Given the description of an element on the screen output the (x, y) to click on. 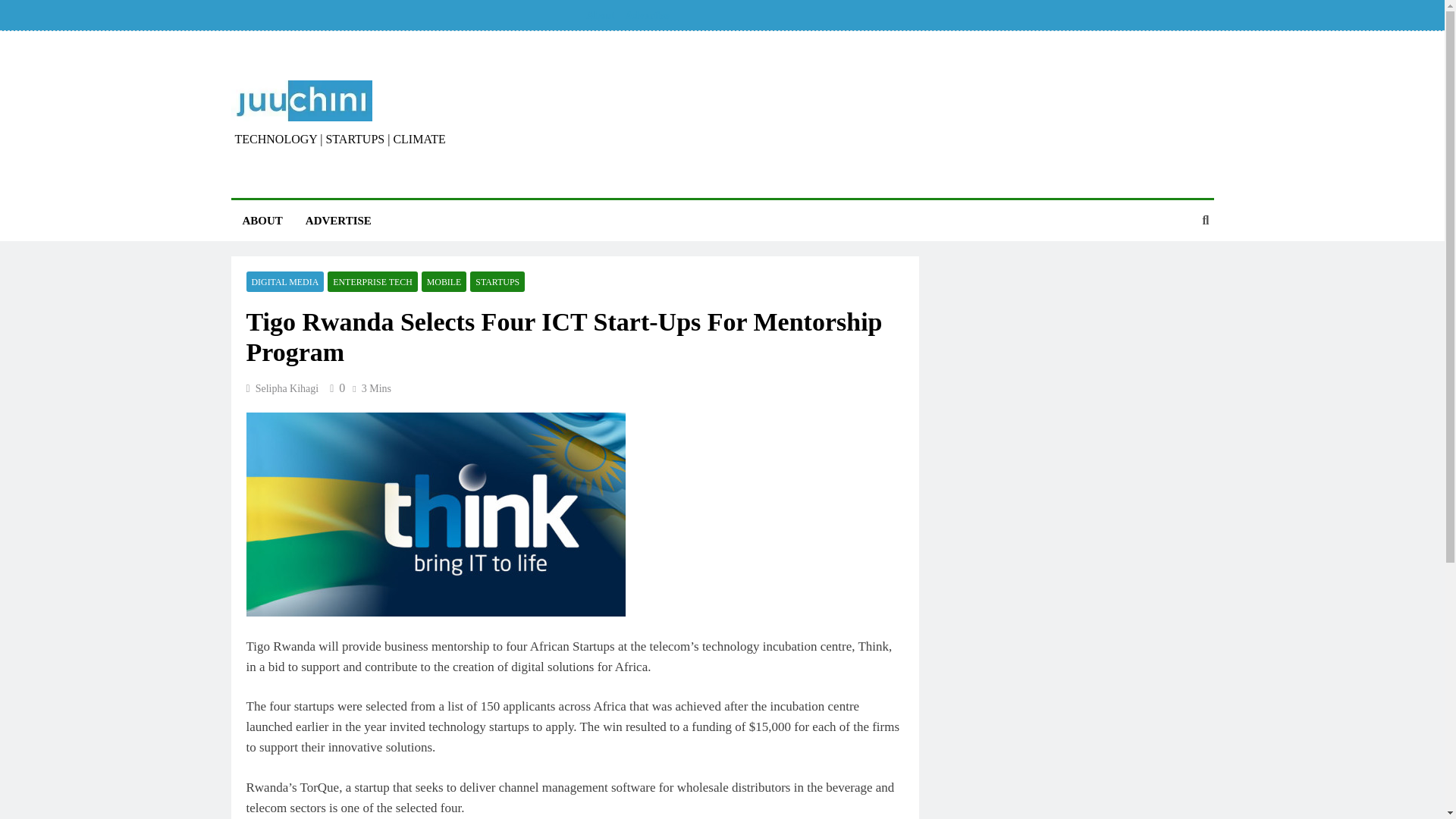
Selipha Kihagi (287, 388)
ABOUT (262, 219)
ADVERTISE (338, 219)
DIGITAL MEDIA (284, 281)
About (600, 15)
Advertise (647, 15)
MOBILE (444, 281)
0 (334, 387)
ENTERPRISE TECH (372, 281)
STARTUPS (497, 281)
